Given the description of an element on the screen output the (x, y) to click on. 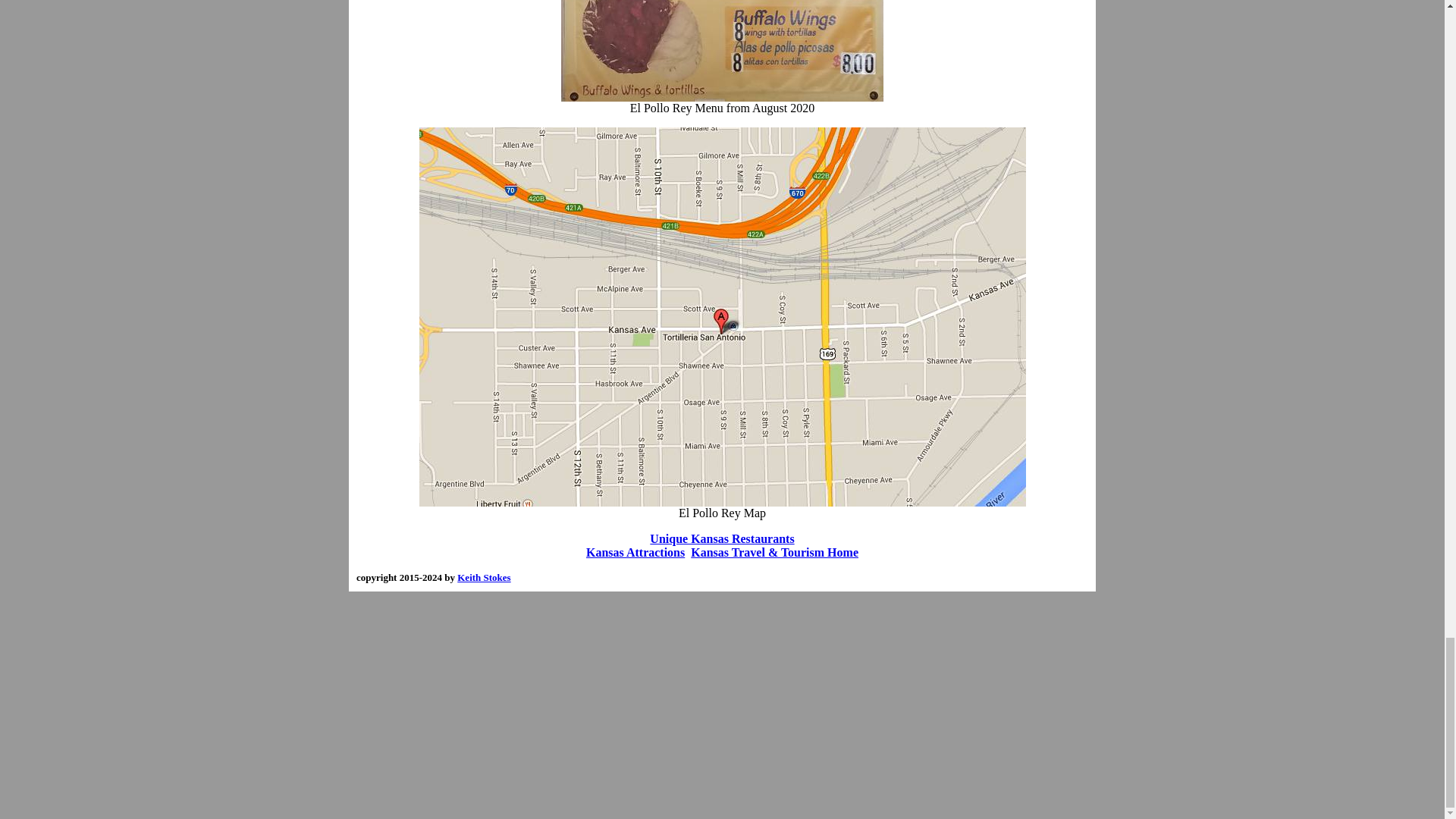
Unique Kansas Restaurants (721, 538)
Keith Stokes (484, 577)
Kansas Attractions (635, 552)
